Given the description of an element on the screen output the (x, y) to click on. 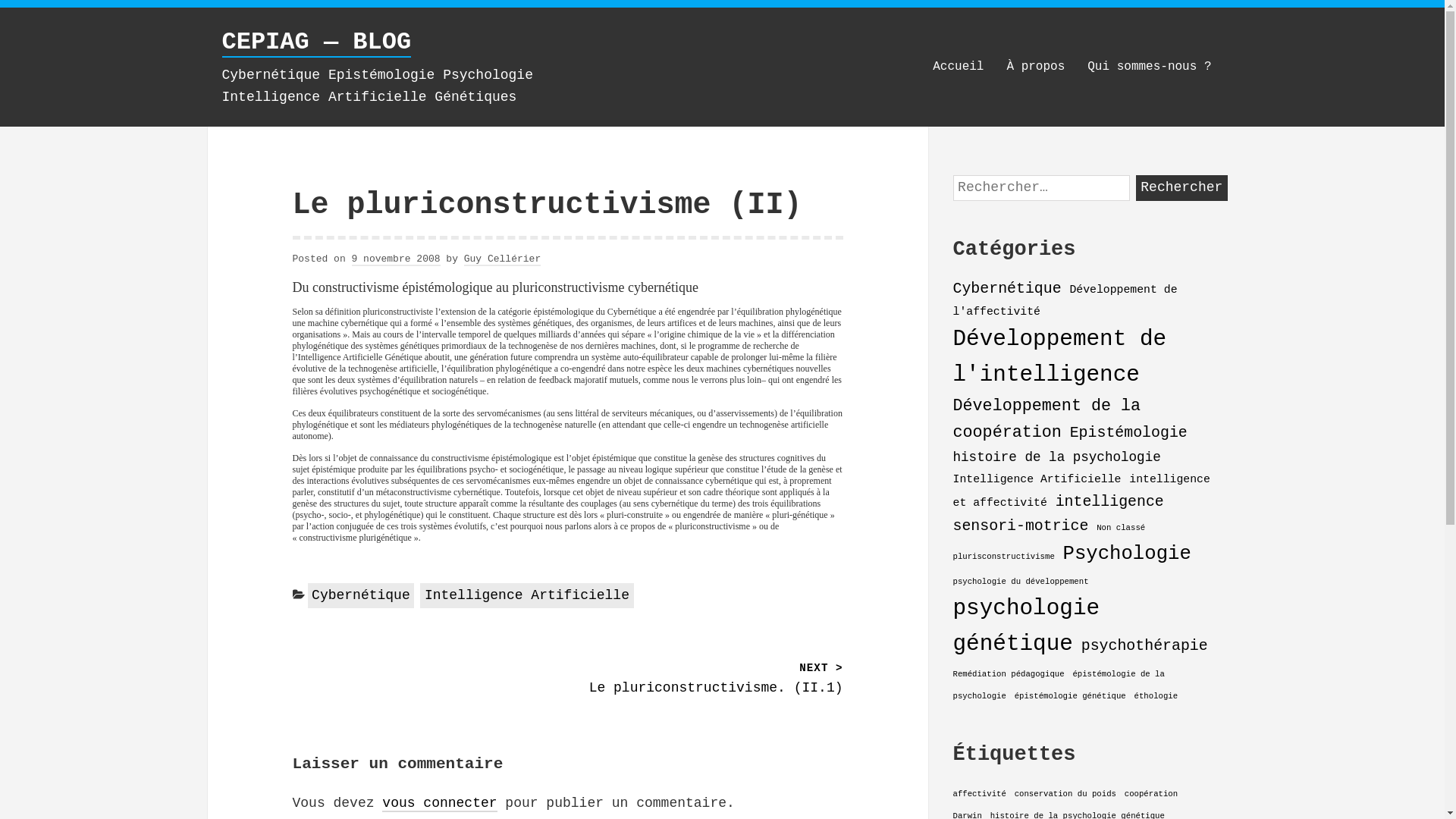
Intelligence Artificielle Element type: text (526, 595)
Skip to footer Element type: text (952, 174)
Accueil Element type: text (957, 67)
Qui sommes-nous ? Element type: text (1149, 67)
conservation du poids Element type: text (1065, 793)
Rechercher Element type: text (1181, 187)
NEXT >
Next post:
Le pluriconstructivisme. (II.1) Element type: text (704, 679)
Intelligence Artificielle Element type: text (1036, 479)
histoire de la psychologie Element type: text (1056, 456)
plurisconstructivisme Element type: text (1003, 556)
9 novembre 2008 Element type: text (395, 259)
Psychologie Element type: text (1127, 553)
intelligence sensori-motrice Element type: text (1057, 513)
vous connecter Element type: text (439, 803)
